Given the description of an element on the screen output the (x, y) to click on. 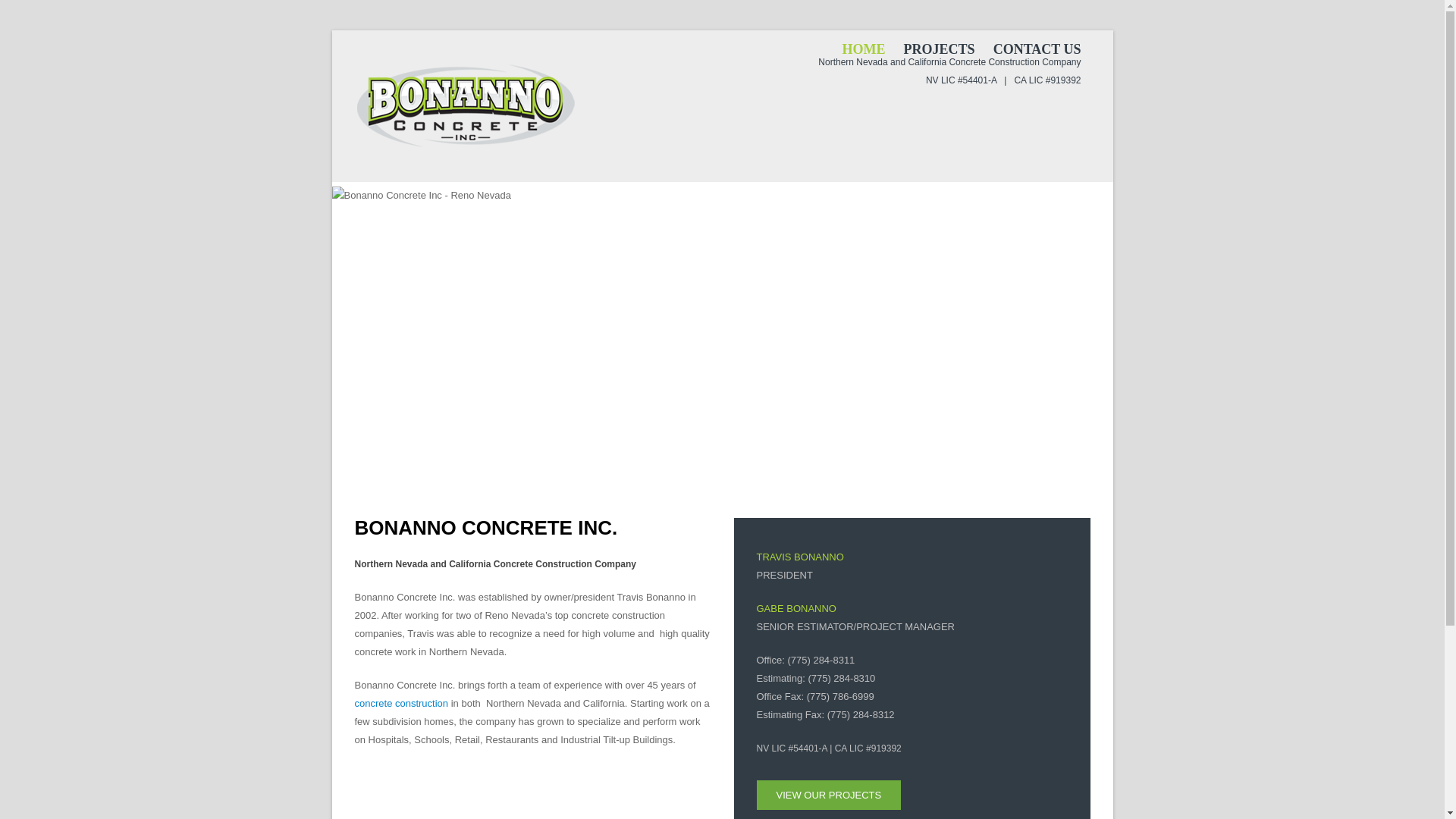
PROJECTS (939, 48)
CONTACT US (1037, 48)
concrete construction (401, 703)
TRAVIS BONANNO (800, 556)
Bonanno Concrete Construction Projects (829, 794)
VIEW OUR PROJECTS (829, 794)
GABE BONANNO (796, 608)
HOME (863, 48)
My CMS (467, 105)
